Given the description of an element on the screen output the (x, y) to click on. 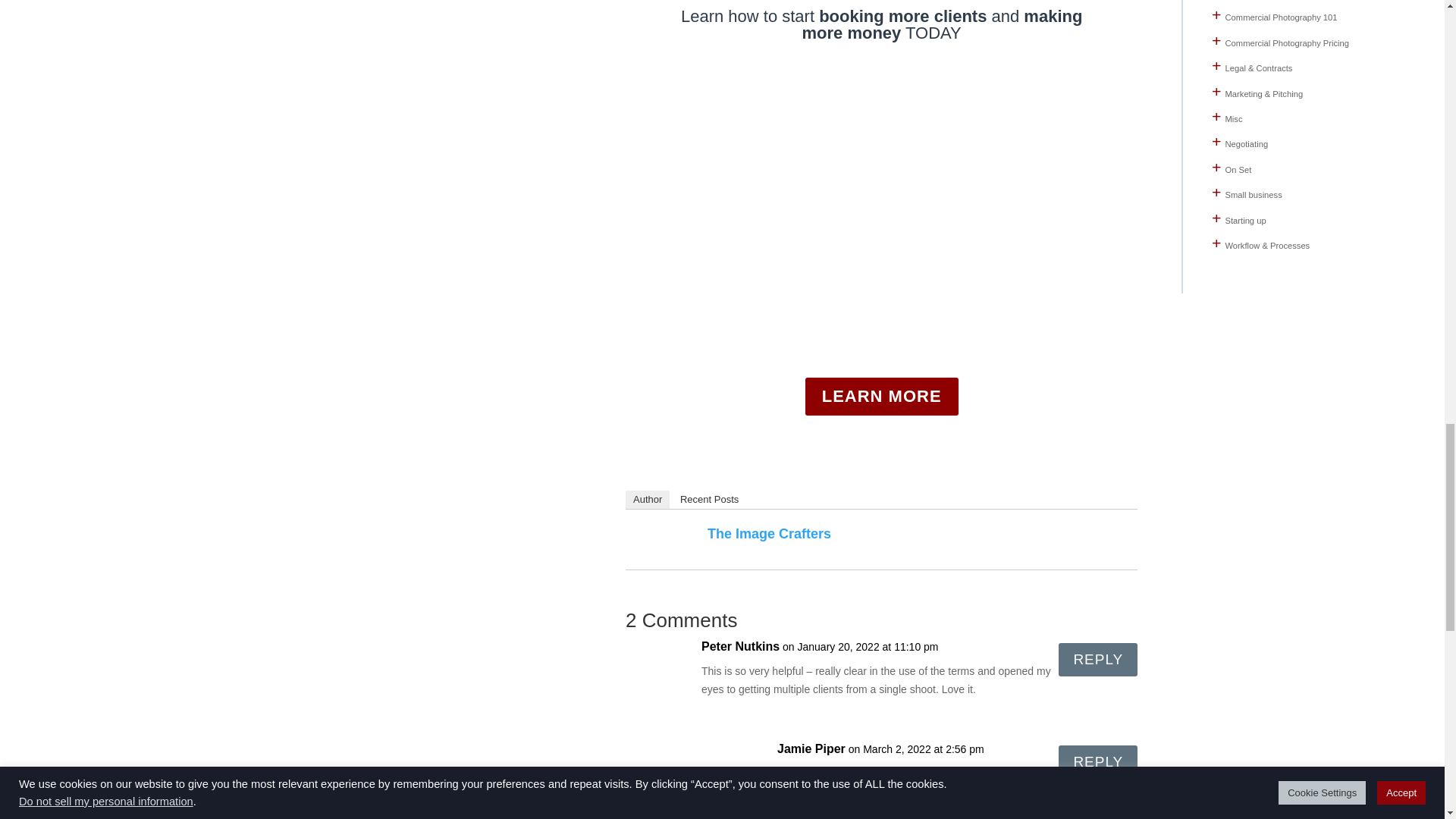
LEARN MORE (881, 396)
